Given the description of an element on the screen output the (x, y) to click on. 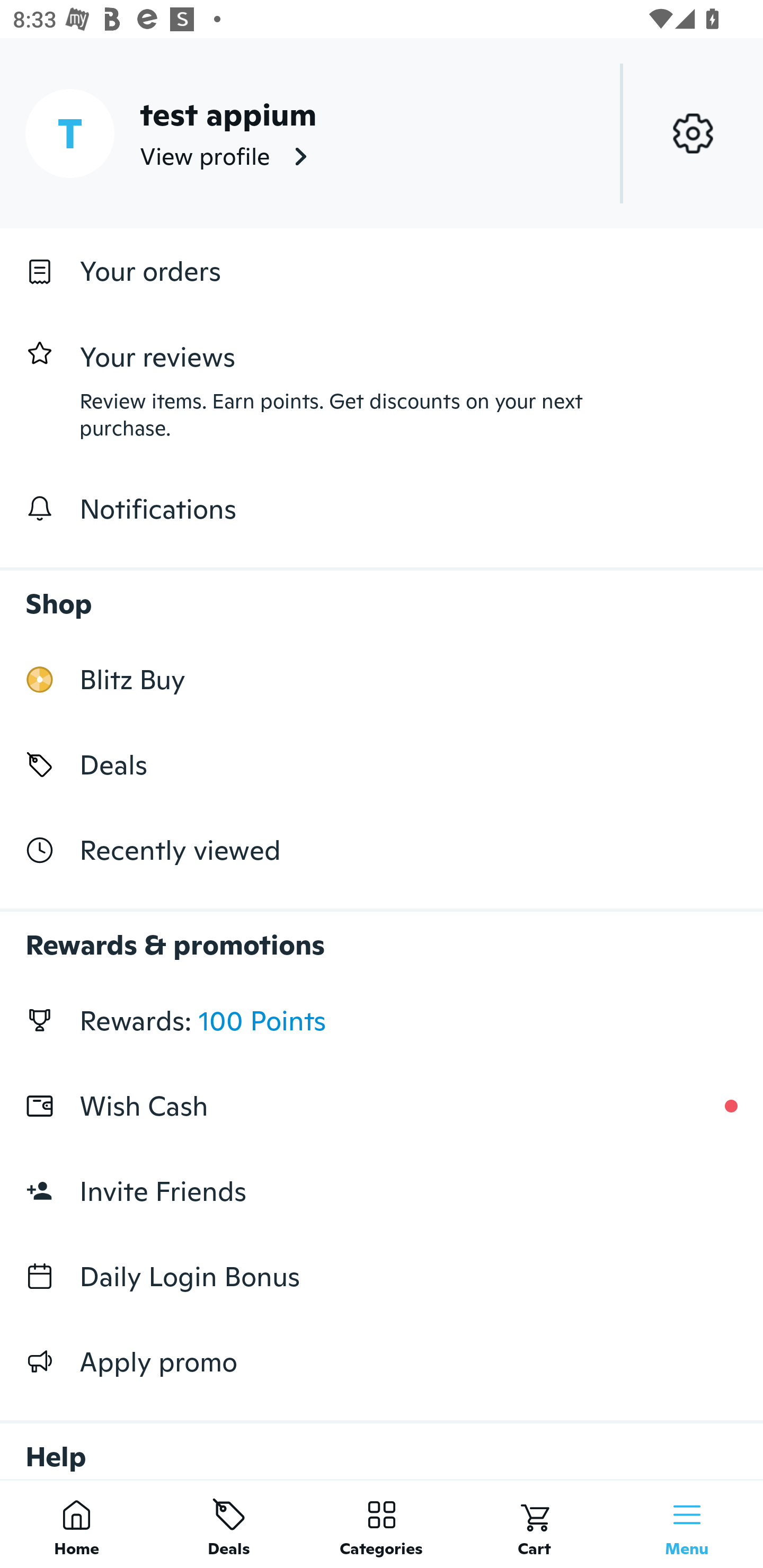
T test appium View profile (381, 132)
Your orders (381, 270)
Notifications (381, 508)
Shop (381, 593)
Blitz Buy (381, 679)
Deals (381, 764)
Recently viewed (381, 850)
Rewards & promotions (381, 935)
Rewards: 100 Points (381, 1020)
Wish Cash (381, 1106)
Invite Friends (381, 1190)
Daily Login Bonus (381, 1277)
Apply promo (381, 1361)
Help (381, 1441)
Home (76, 1523)
Deals (228, 1523)
Categories (381, 1523)
Cart (533, 1523)
Menu (686, 1523)
